Given the description of an element on the screen output the (x, y) to click on. 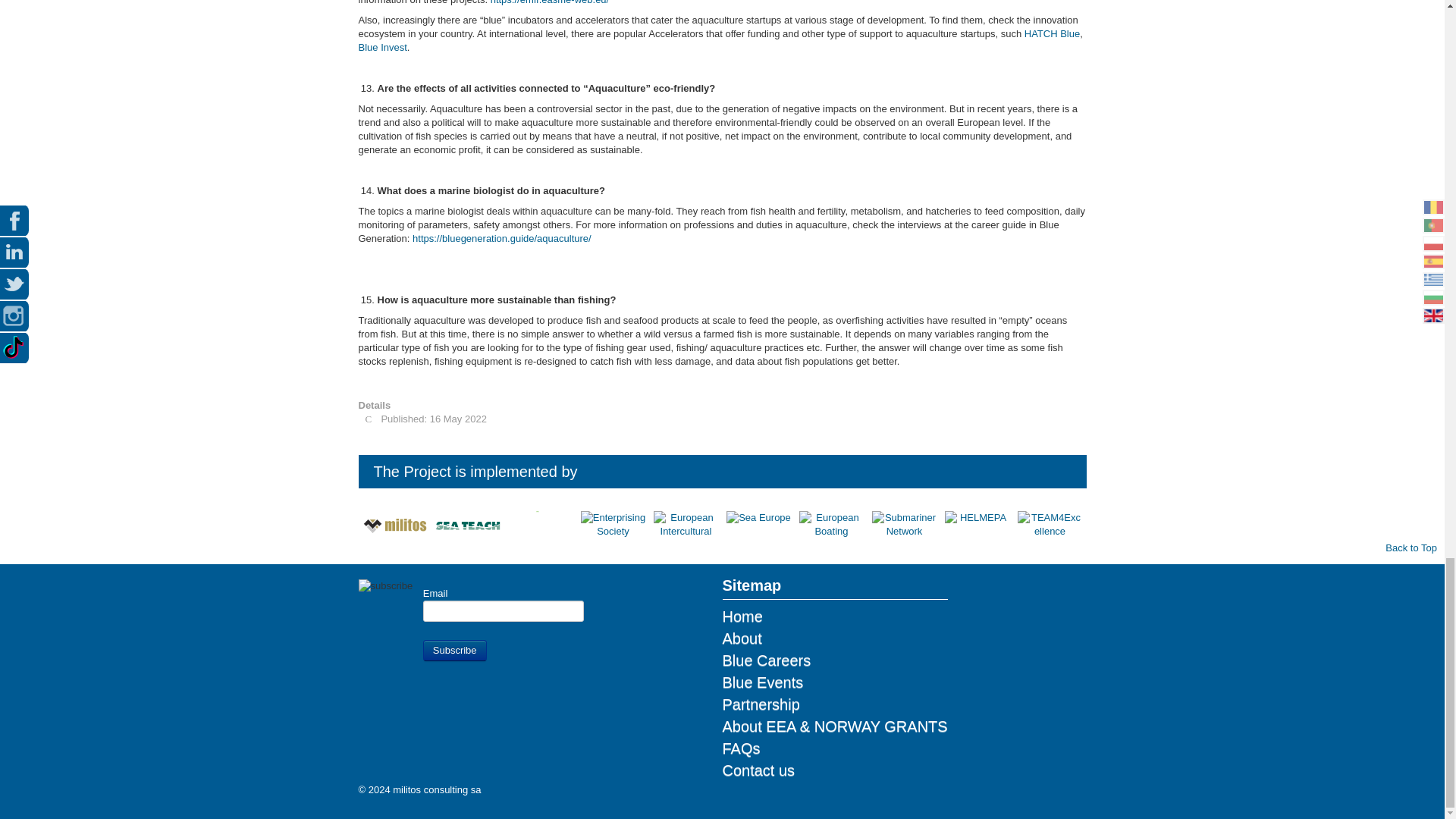
Blue Invest (382, 47)
HATCH Blue (1052, 33)
Subscribe (454, 649)
